Given the description of an element on the screen output the (x, y) to click on. 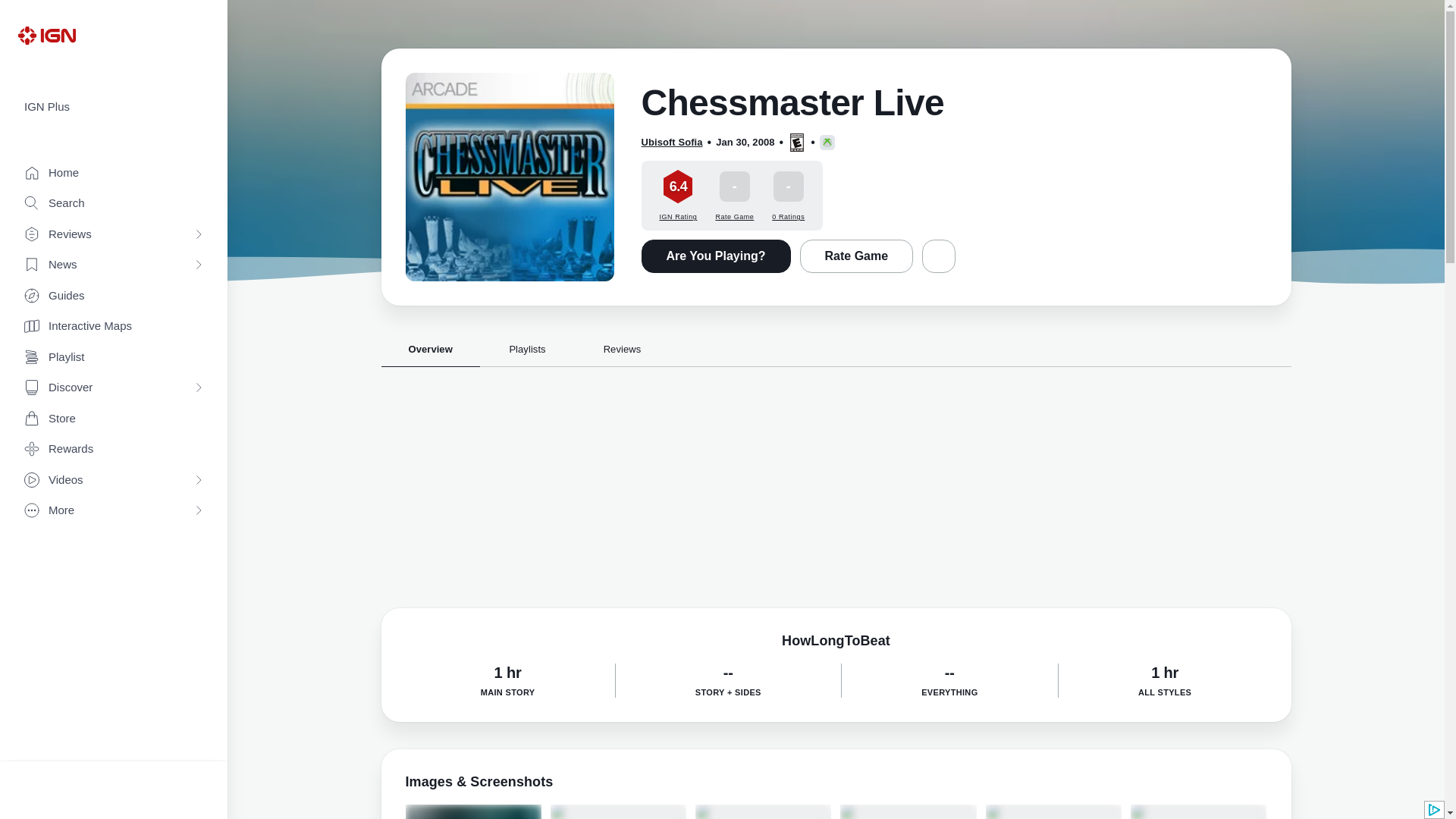
Reviews (113, 234)
Search (113, 203)
Videos (113, 480)
Store (113, 418)
IGN Plus (113, 107)
Search (113, 203)
Reviews (113, 234)
Xbox 360 (826, 142)
News (113, 265)
ESRB: Everyone (796, 142)
Guides (113, 295)
Home (113, 172)
Discover (113, 387)
Interactive Maps (113, 326)
Interactive Maps (113, 326)
